Given the description of an element on the screen output the (x, y) to click on. 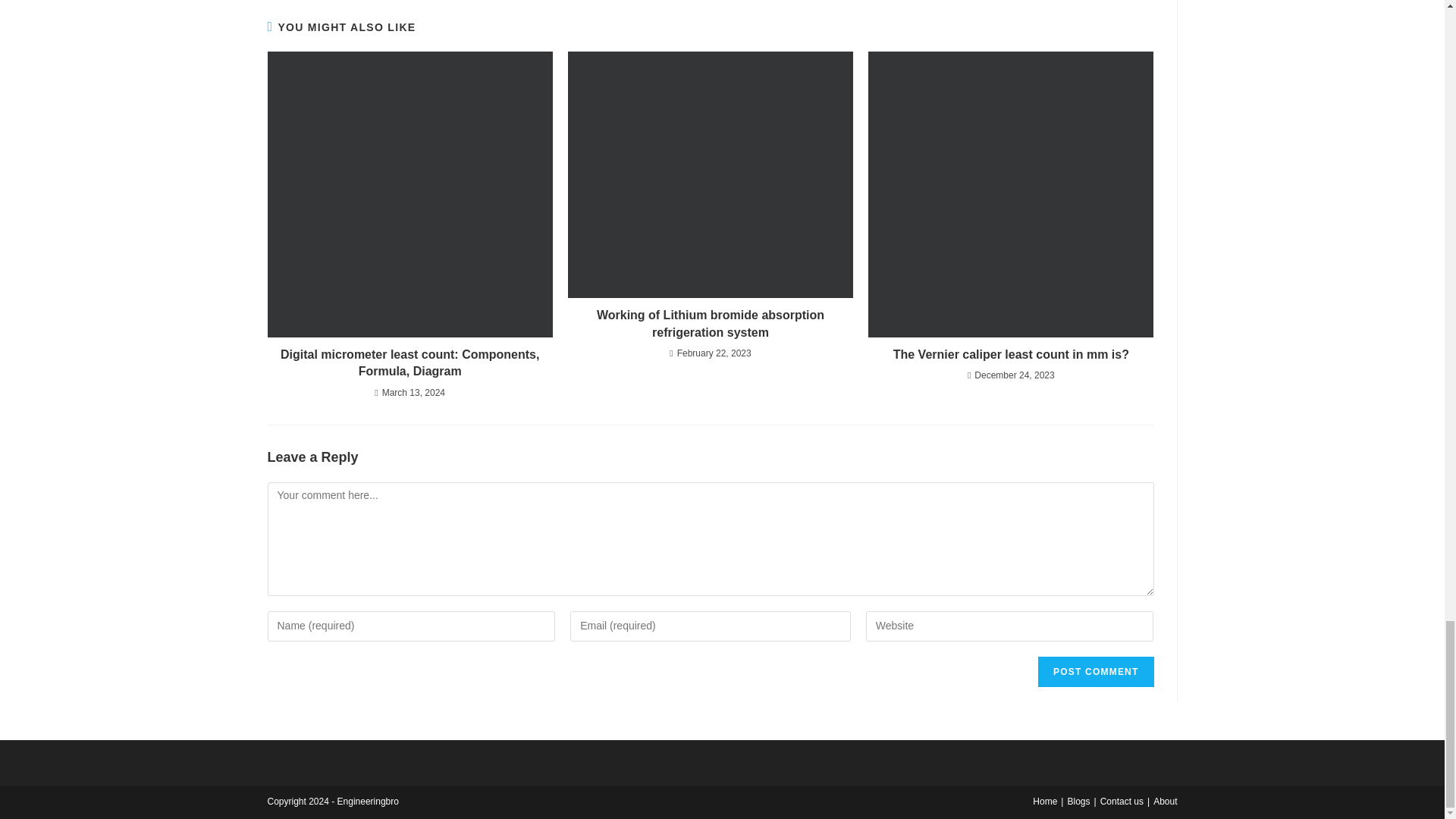
The Vernier caliper least count in mm is? 4 (1010, 193)
Working of Lithium bromide absorption refrigeration system 3 (710, 174)
Post Comment (1095, 671)
